Given the description of an element on the screen output the (x, y) to click on. 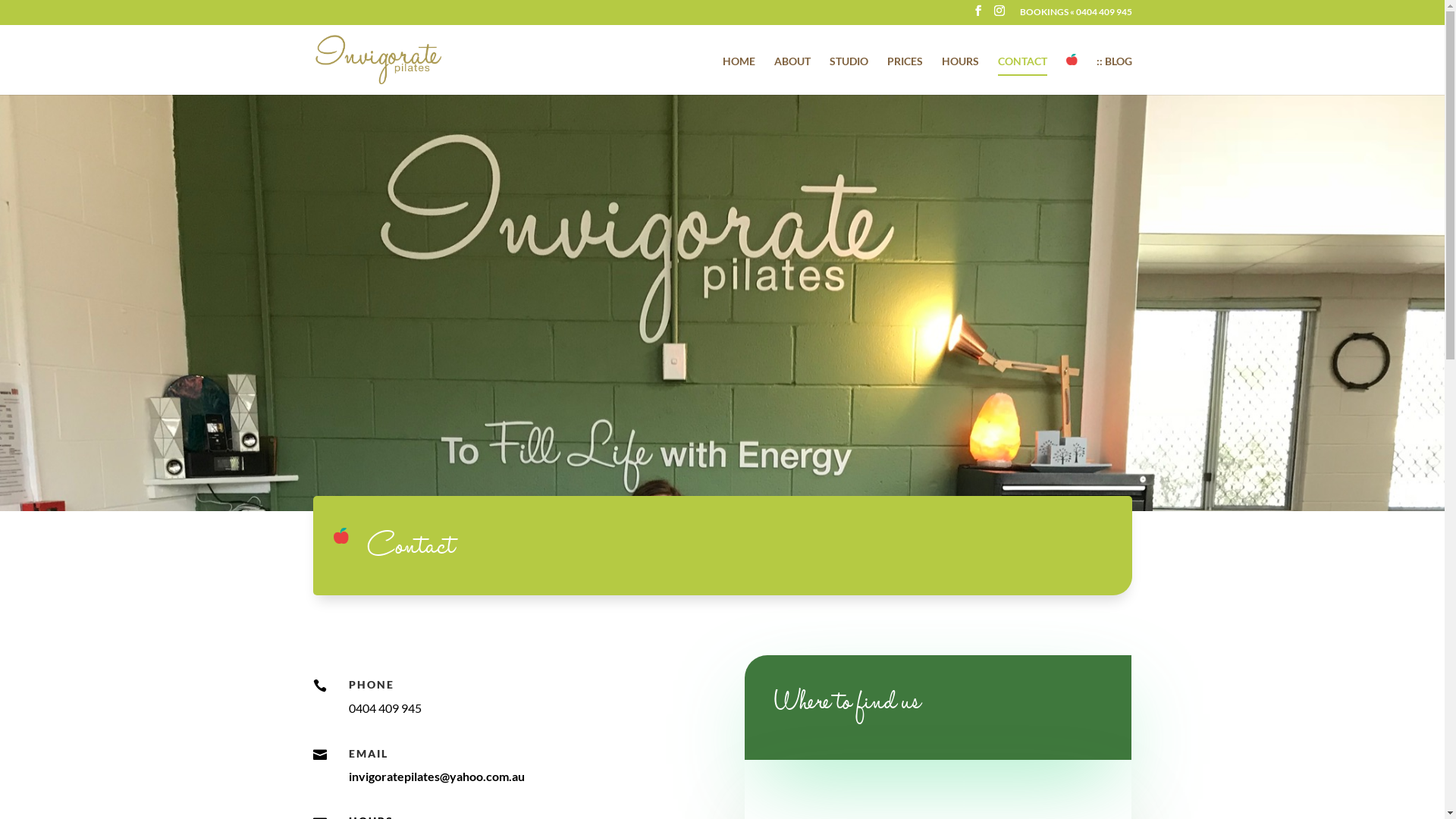
ABOUT Element type: text (791, 65)
CONTACT Element type: text (1022, 65)
invigoratepilates@yahoo.com.au Element type: text (436, 775)
HOME Element type: text (737, 65)
STUDIO Element type: text (848, 65)
HOURS Element type: text (960, 65)
:: BLOG Element type: text (1114, 65)
PRICES Element type: text (904, 65)
